Given the description of an element on the screen output the (x, y) to click on. 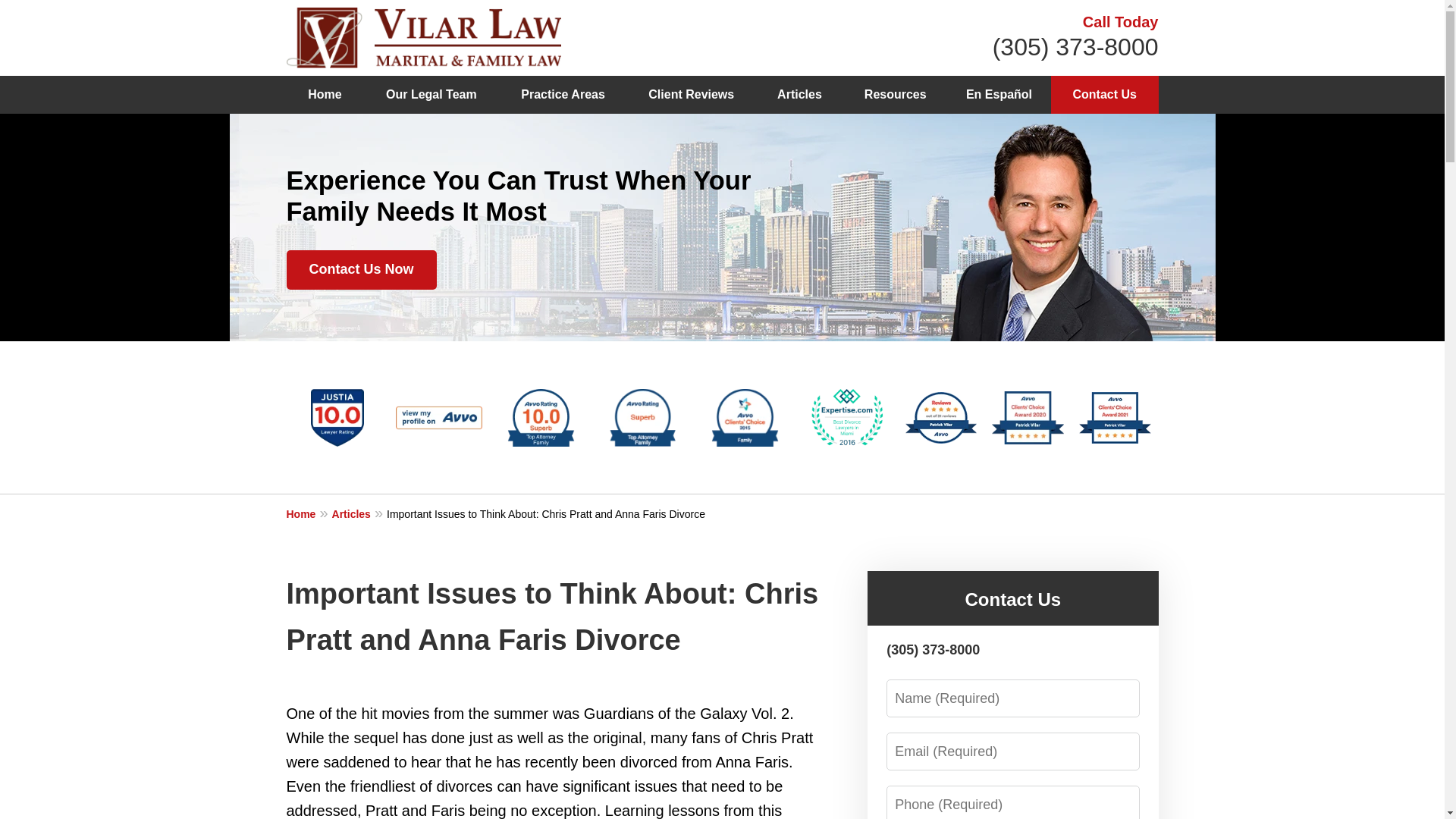
Contact Us (1104, 94)
Contact Us (1012, 598)
Resources (895, 94)
Client Reviews (691, 94)
Articles (799, 94)
Contact Us Now (361, 269)
Home (325, 94)
Home (308, 513)
Our Legal Team (430, 94)
Articles (359, 513)
